Given the description of an element on the screen output the (x, y) to click on. 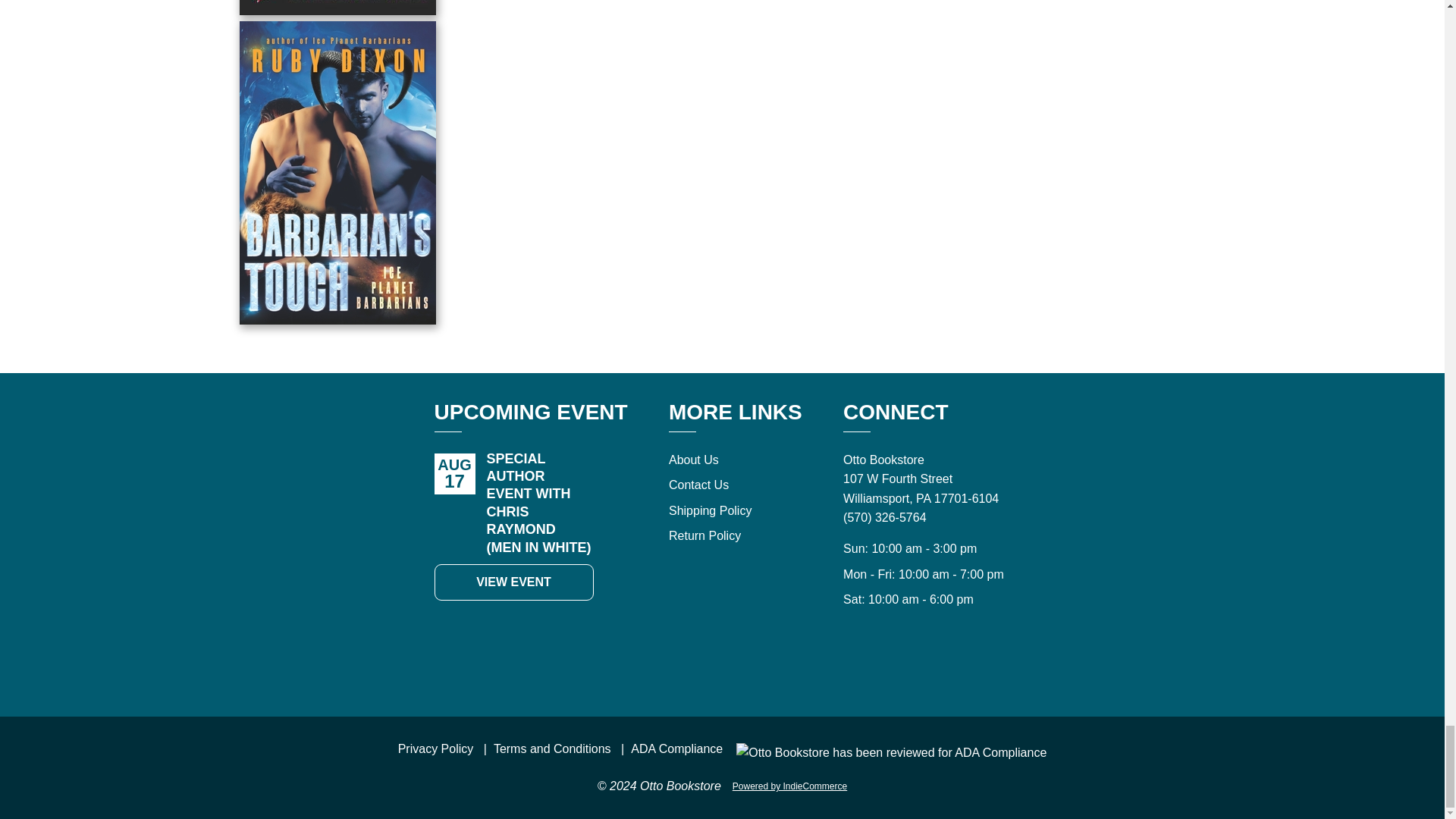
Connect with Facebook (892, 663)
Connect with Instagram (959, 663)
Connect with Twitter (926, 663)
